Given the description of an element on the screen output the (x, y) to click on. 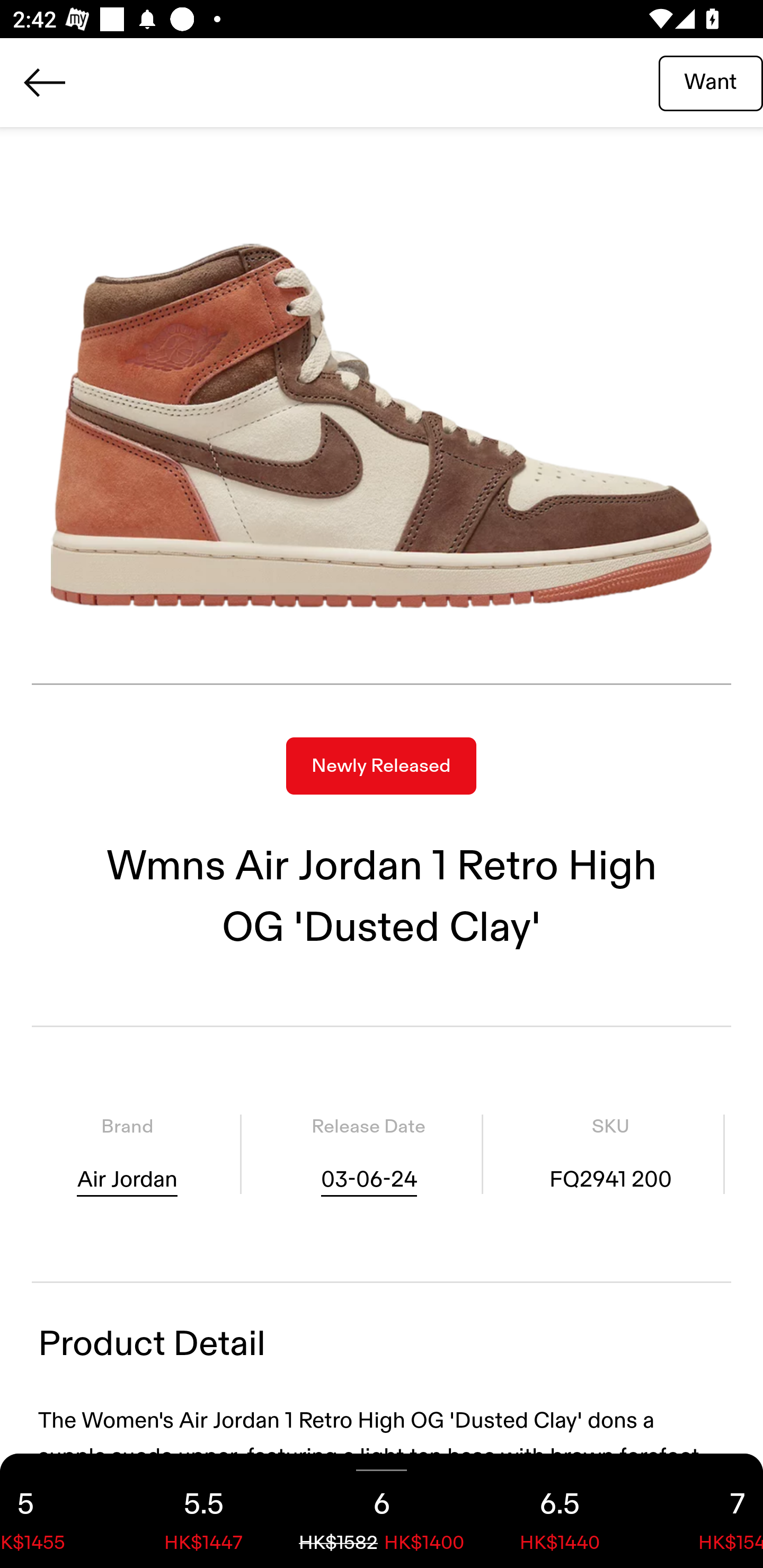
Want (710, 82)
Newly Released (381, 765)
Brand Air Jordan (126, 1153)
Release Date 03-06-24 (368, 1153)
SKU FQ2941 200 (609, 1153)
5 HK$1455 (57, 1510)
5.5 HK$1447 (203, 1510)
6 HK$1582 HK$1400 (381, 1510)
6.5 HK$1440 (559, 1510)
7 HK$1542 (705, 1510)
